Given the description of an element on the screen output the (x, y) to click on. 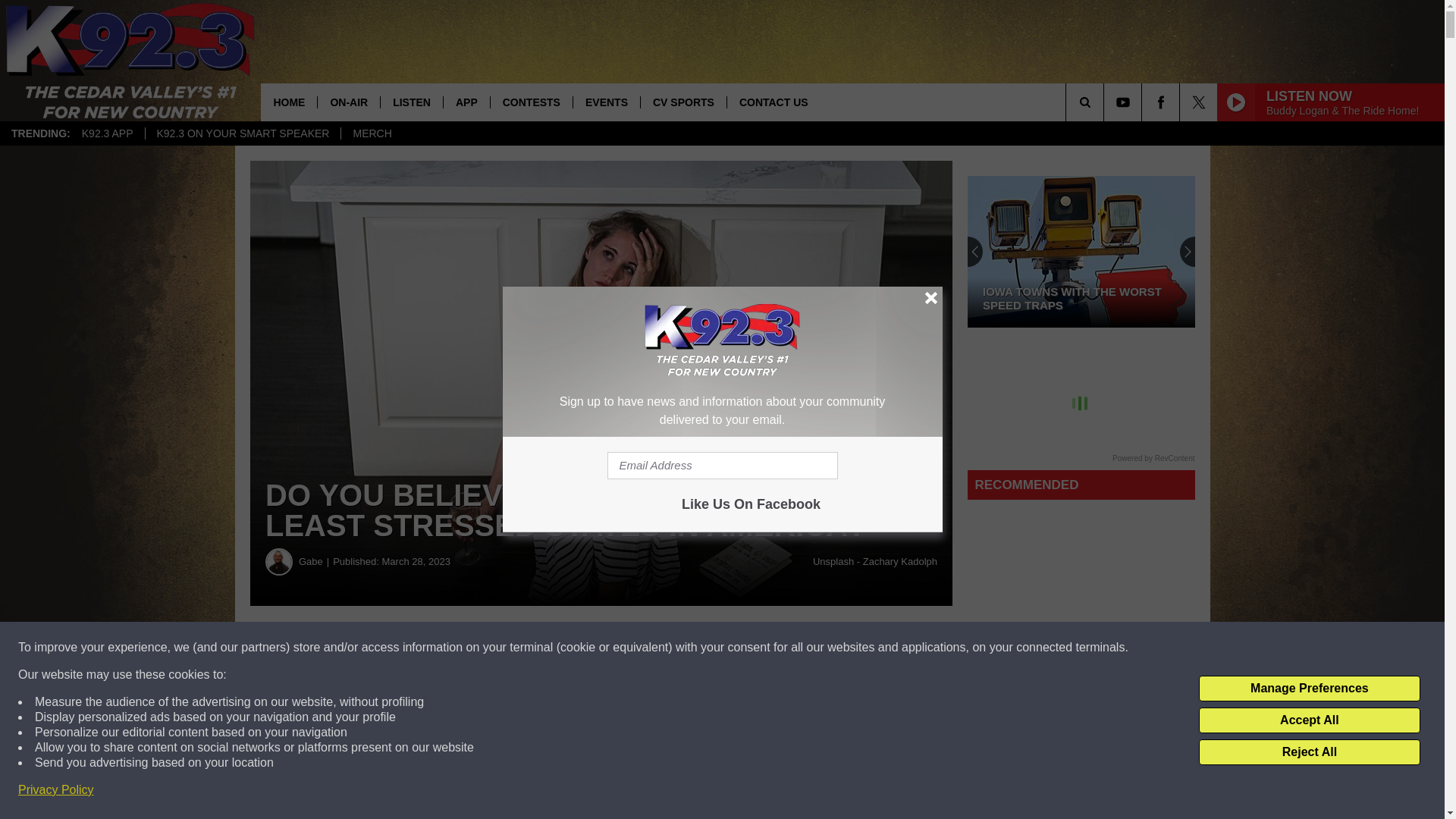
Share on Facebook (460, 647)
SEARCH (1106, 102)
Share on Twitter (741, 647)
LISTEN (411, 102)
HOME (288, 102)
K92.3 ON YOUR SMART SPEAKER (242, 133)
ON-AIR (348, 102)
MERCH (371, 133)
APP (465, 102)
SEARCH (1106, 102)
K92.3 APP (106, 133)
Reject All (1309, 751)
EVENTS (606, 102)
Email Address (722, 465)
Privacy Policy (55, 789)
